Given the description of an element on the screen output the (x, y) to click on. 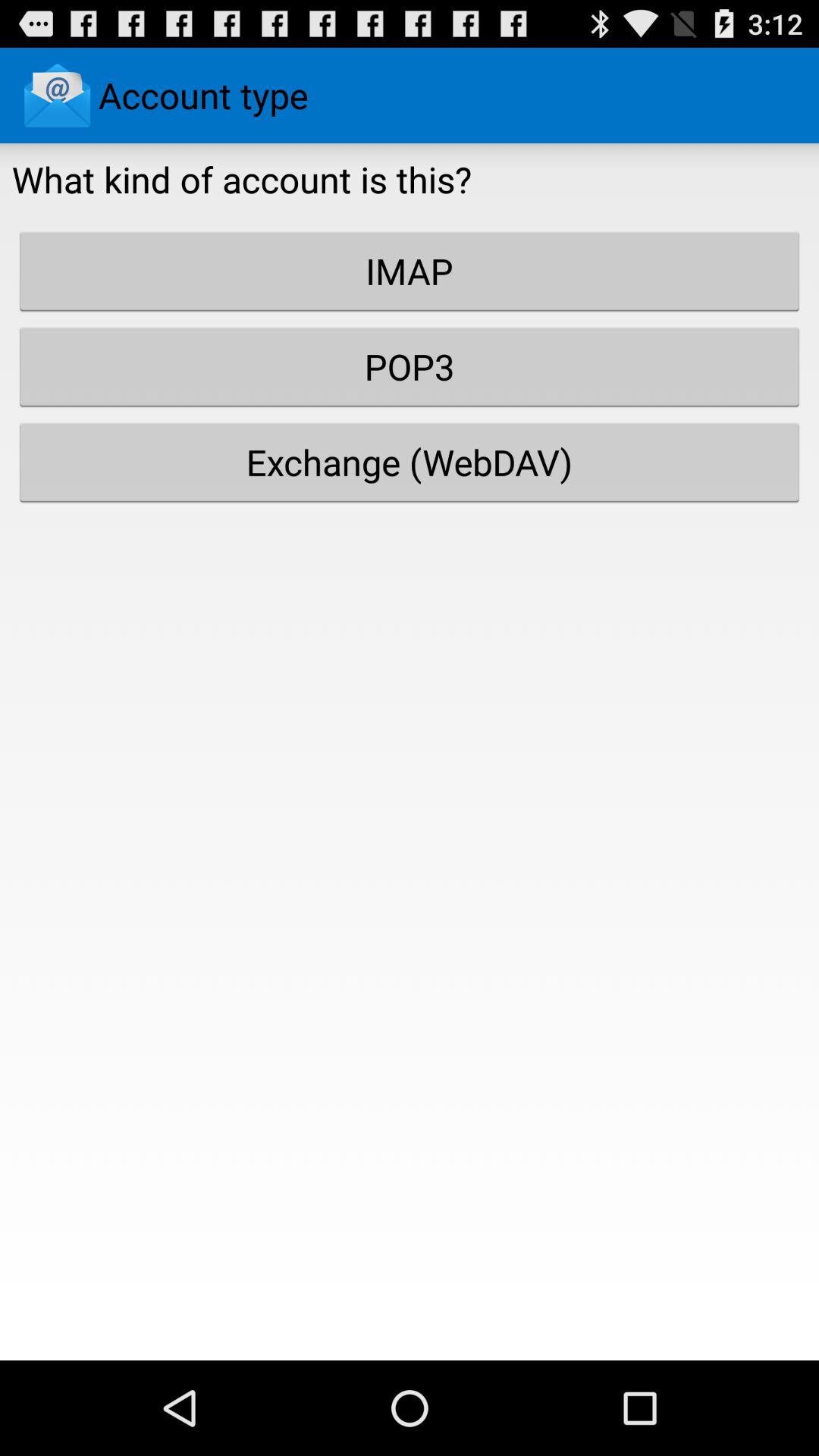
flip until the pop3 icon (409, 366)
